Given the description of an element on the screen output the (x, y) to click on. 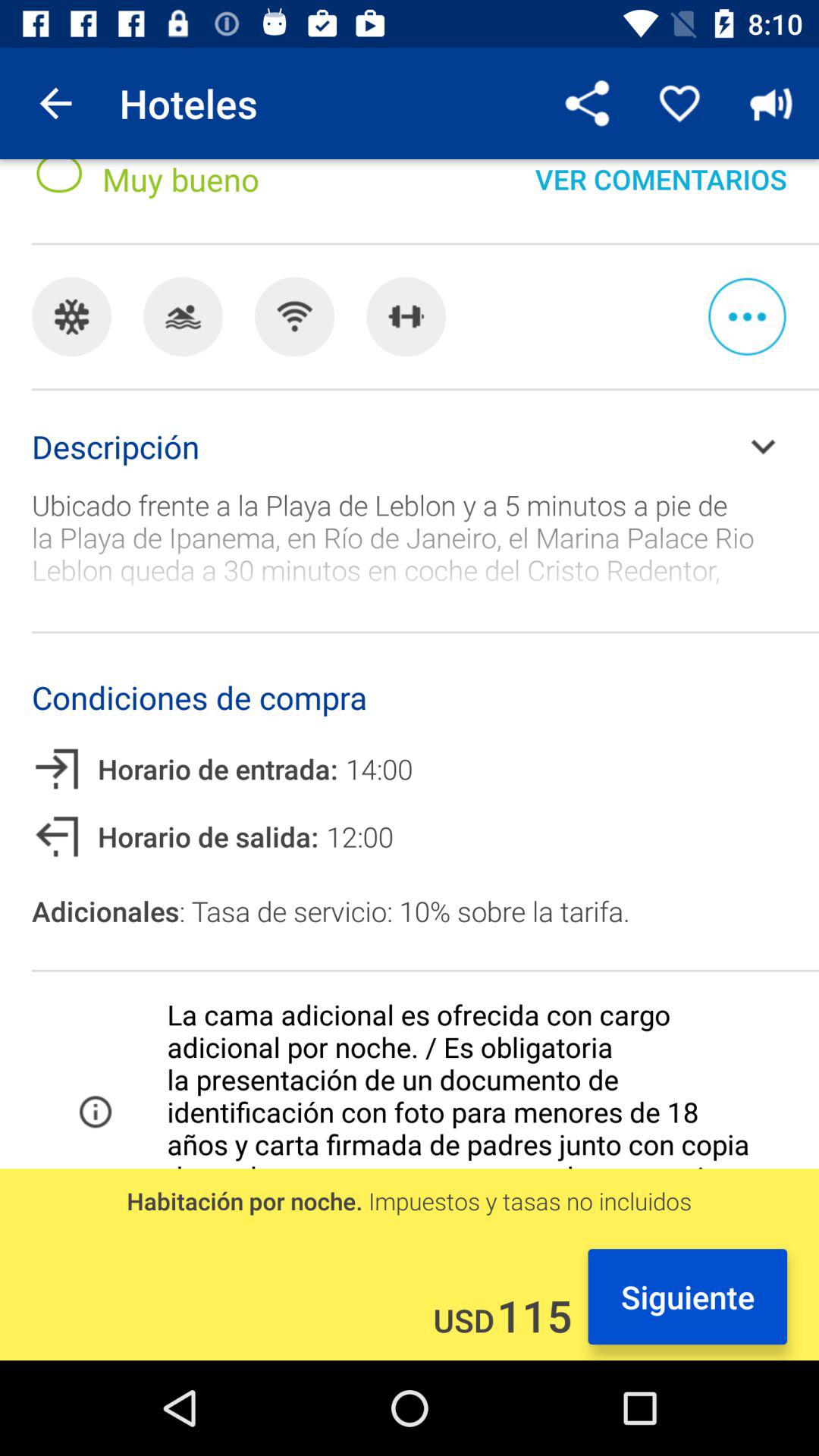
press item next to the muy bueno item (587, 103)
